Given the description of an element on the screen output the (x, y) to click on. 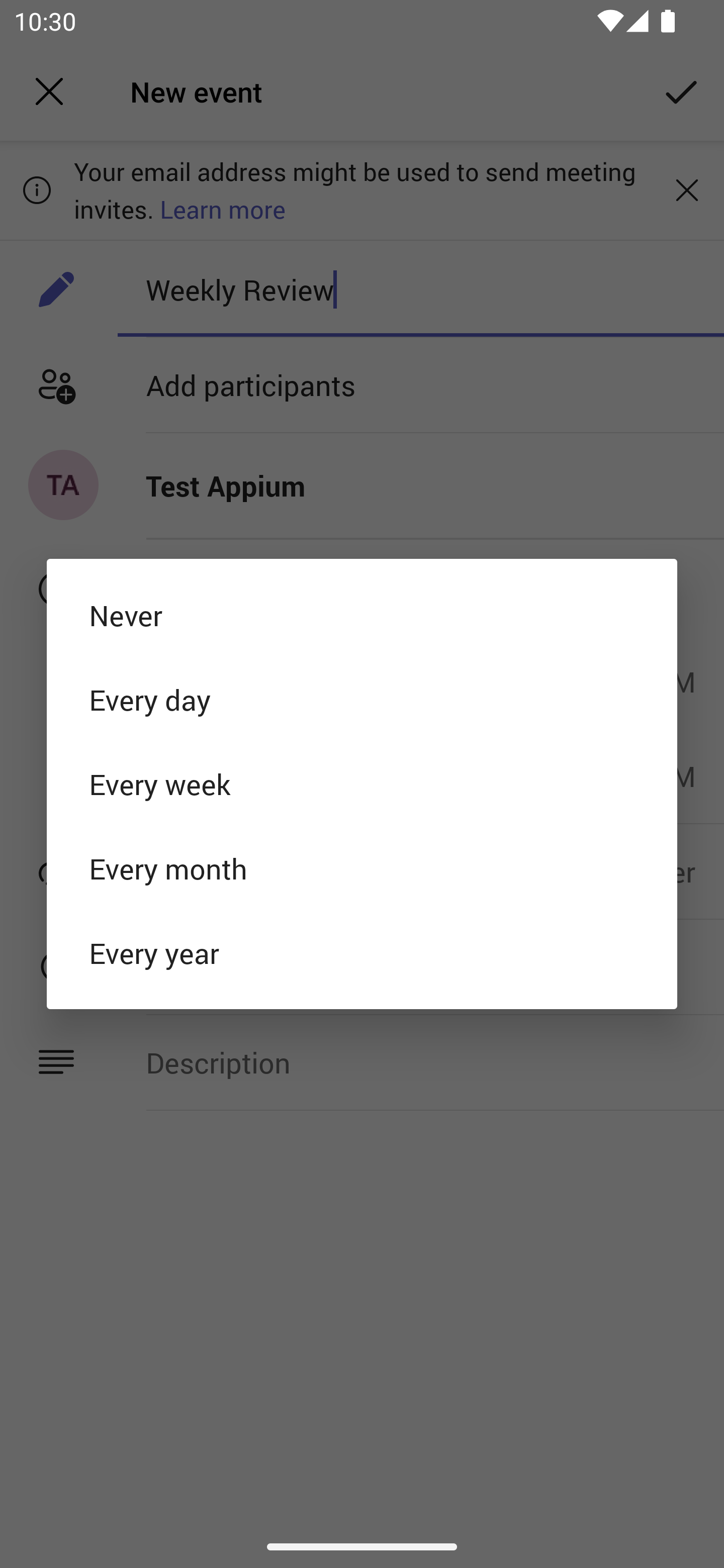
Never (361, 614)
Every day (361, 698)
Every week (361, 783)
Every month (361, 868)
Every year (361, 953)
